Given the description of an element on the screen output the (x, y) to click on. 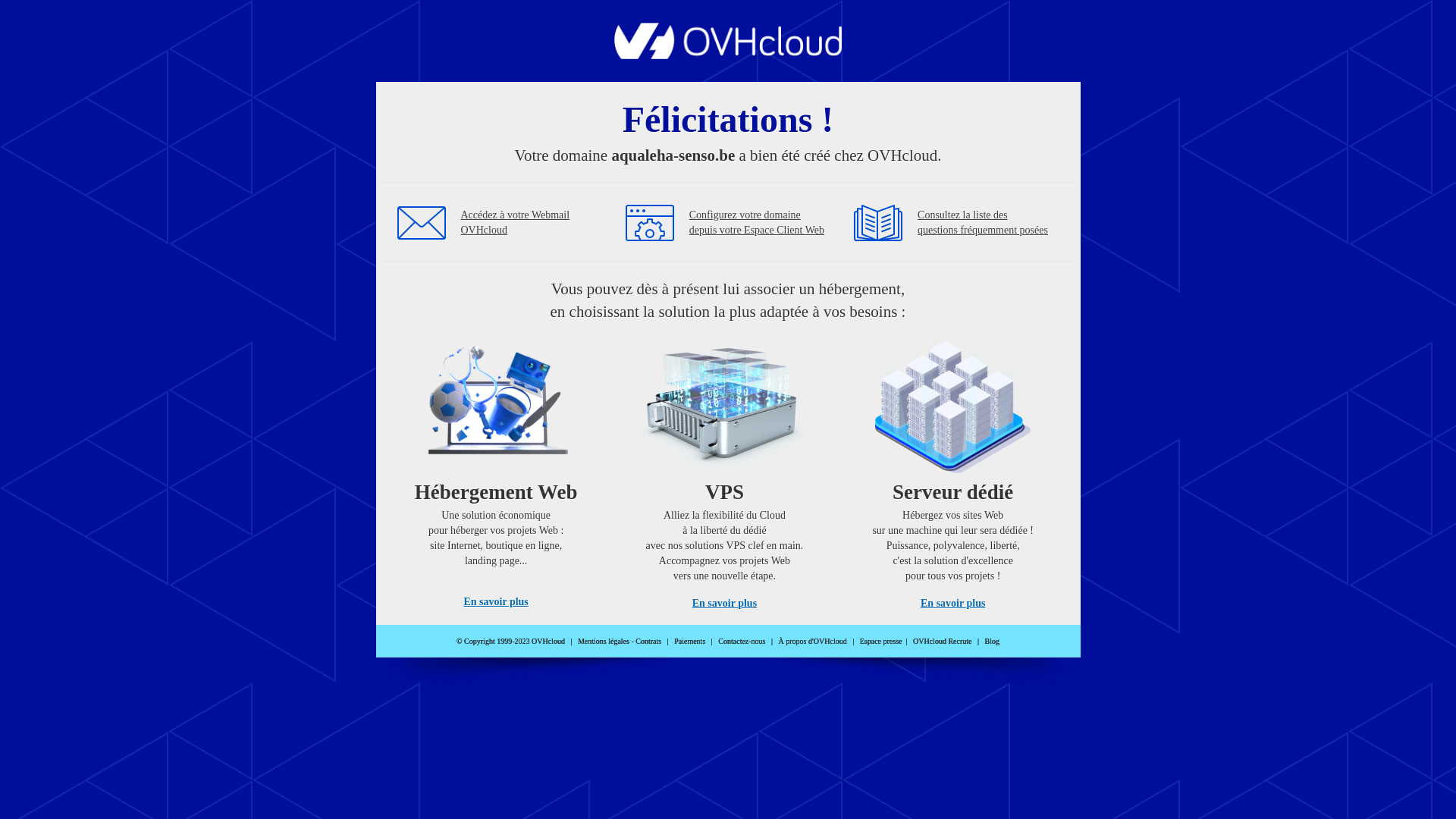
En savoir plus Element type: text (952, 602)
Contactez-nous Element type: text (741, 641)
Paiements Element type: text (689, 641)
OVHcloud Recrute Element type: text (942, 641)
Configurez votre domaine
depuis votre Espace Client Web Element type: text (756, 222)
Blog Element type: text (992, 641)
VPS Element type: hover (724, 469)
Espace presse Element type: text (880, 641)
OVHcloud Element type: hover (727, 54)
En savoir plus Element type: text (495, 601)
En savoir plus Element type: text (724, 602)
